Given the description of an element on the screen output the (x, y) to click on. 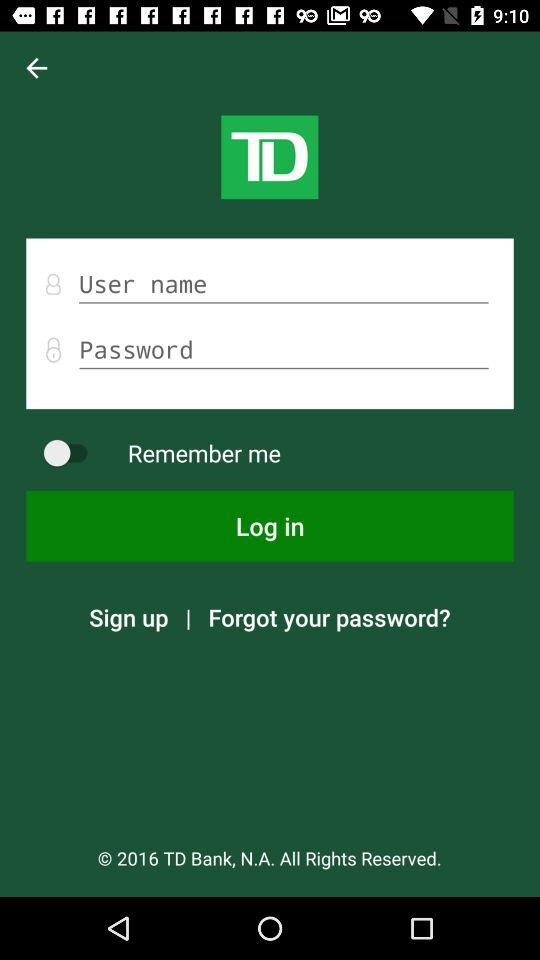
flip to the sign up icon (128, 617)
